Given the description of an element on the screen output the (x, y) to click on. 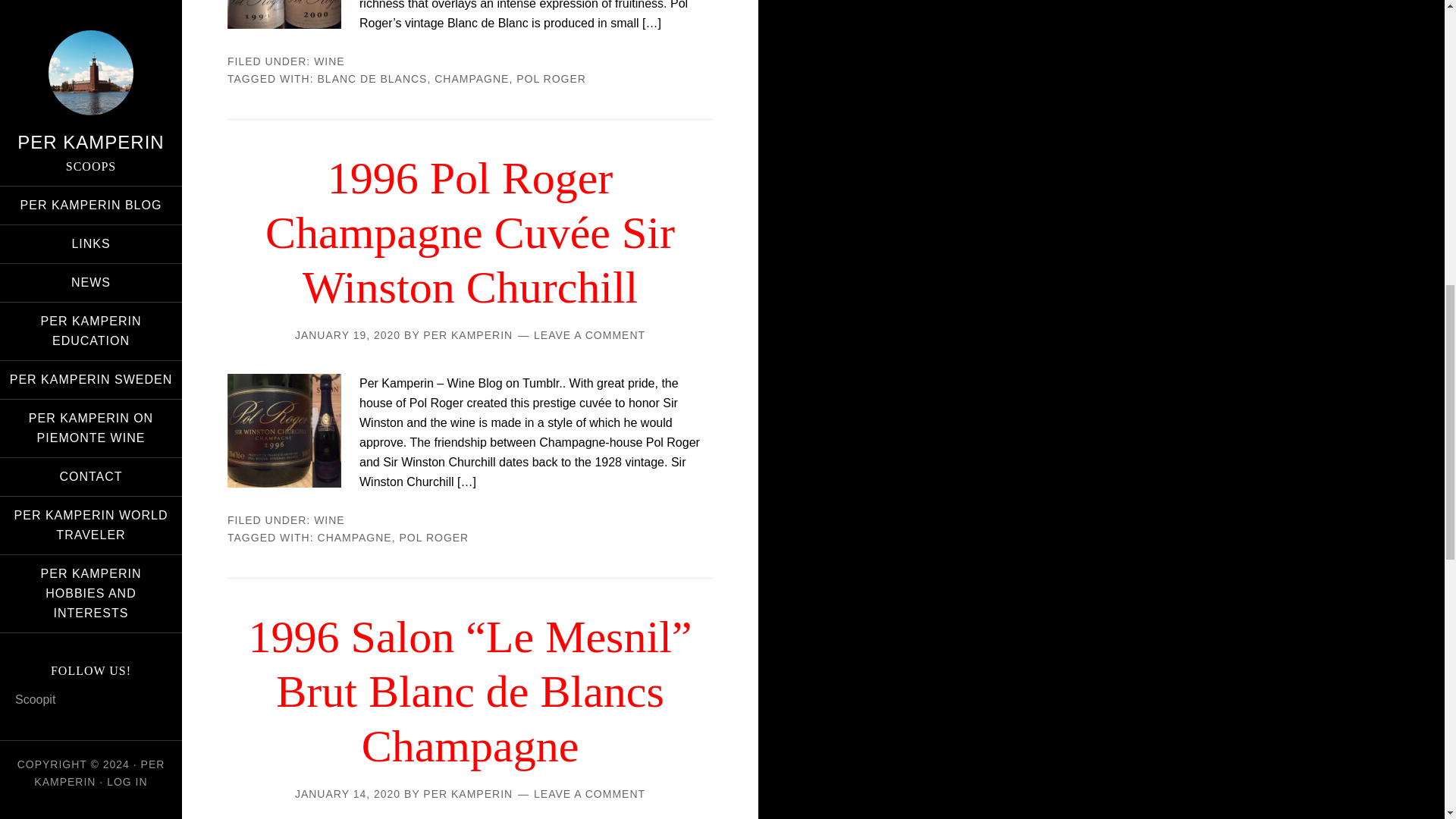
WINE (329, 61)
CHAMPAGNE (470, 78)
LEAVE A COMMENT (589, 793)
BLANC DE BLANCS (372, 78)
PER KAMPERIN (467, 335)
PER KAMPERIN (467, 793)
CHAMPAGNE (354, 537)
POL ROGER (551, 78)
POL ROGER (433, 537)
LEAVE A COMMENT (589, 335)
